Given the description of an element on the screen output the (x, y) to click on. 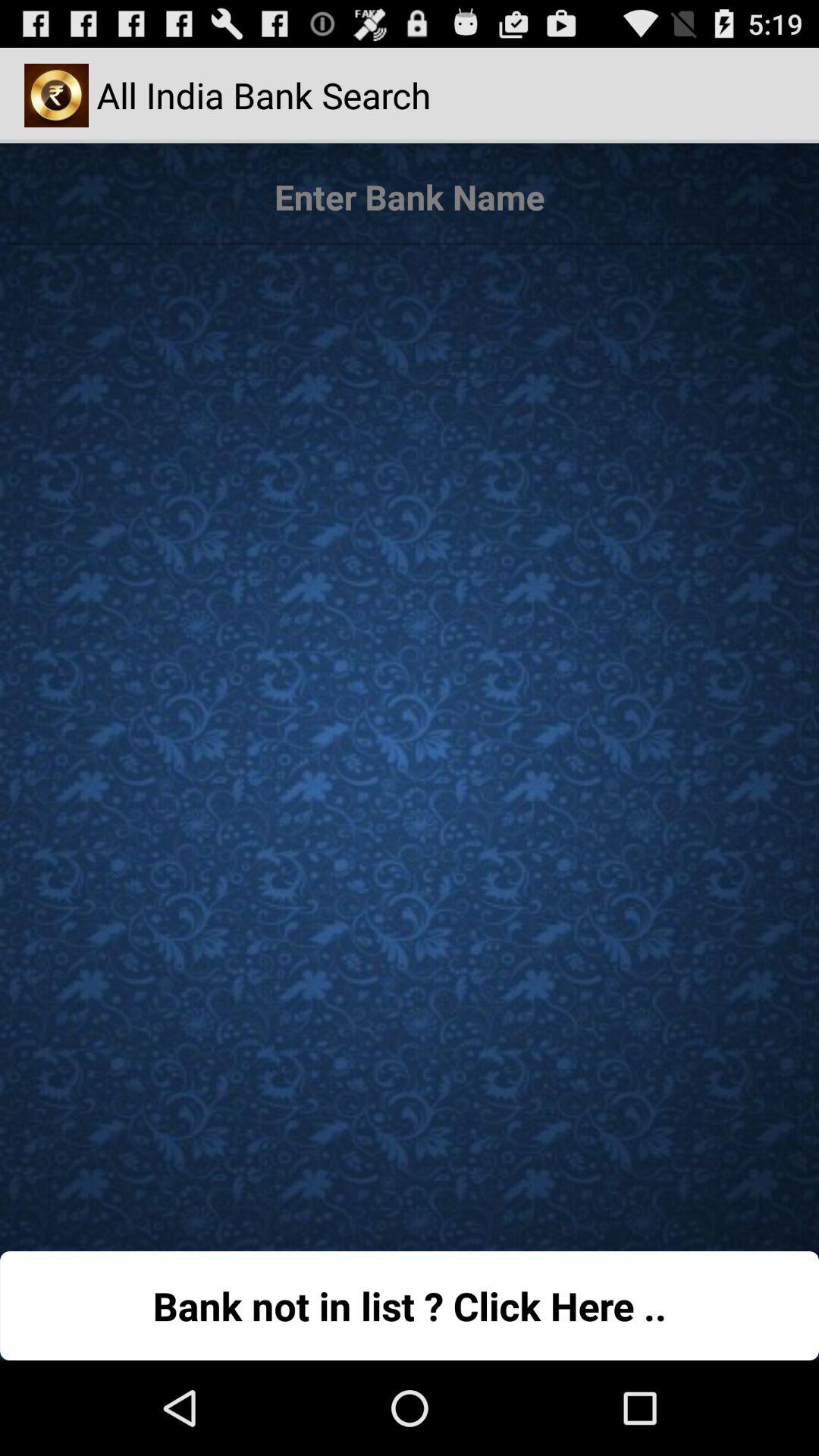
click icon at the center (409, 740)
